Given the description of an element on the screen output the (x, y) to click on. 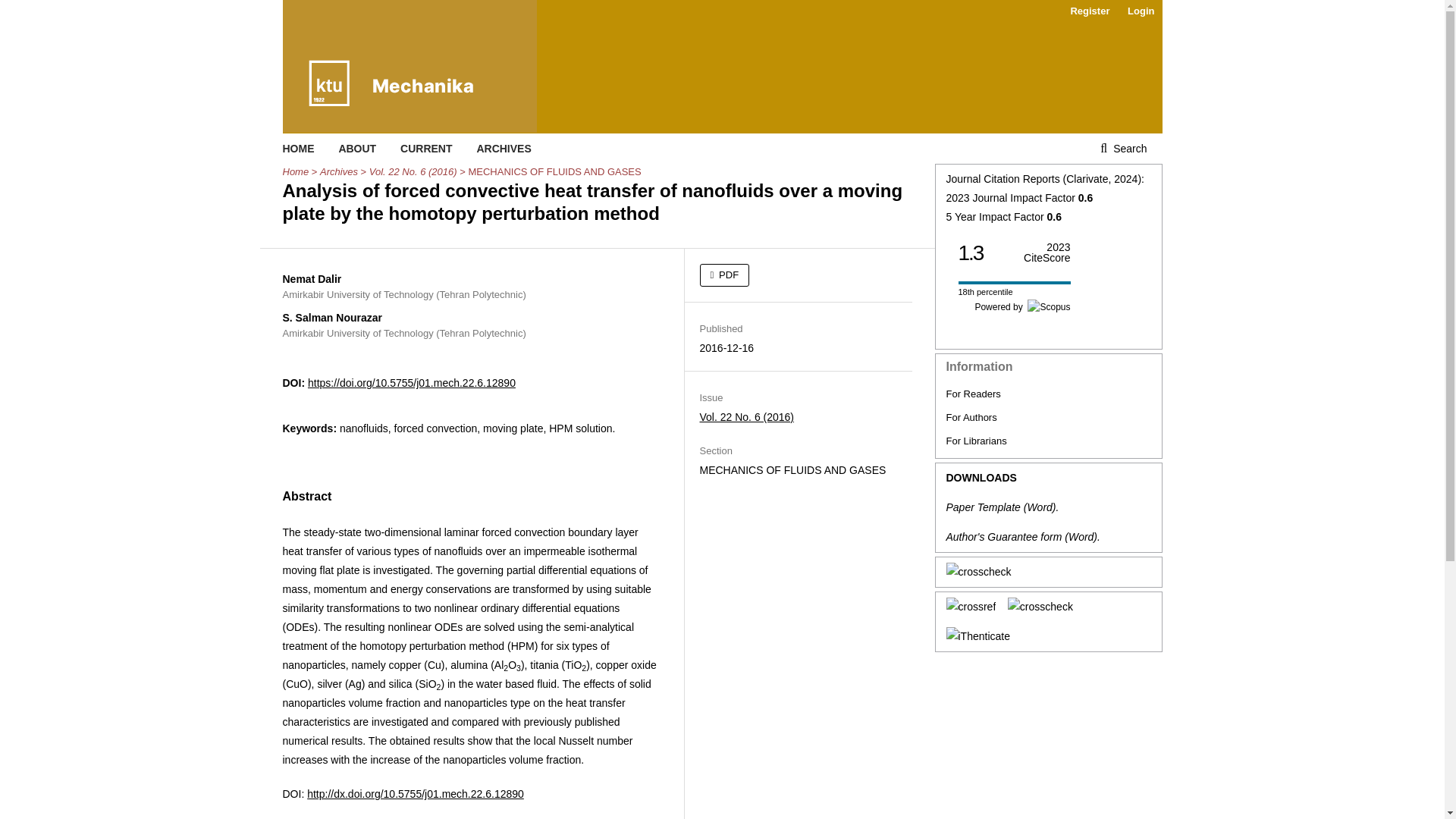
ARCHIVES (503, 148)
PDF (723, 274)
Paper Template (983, 507)
For Authors (971, 417)
Register (1089, 11)
Archives (339, 171)
For Readers (973, 393)
For Librarians (976, 440)
Search (1122, 148)
Author's Guarantee form (1004, 536)
